Given the description of an element on the screen output the (x, y) to click on. 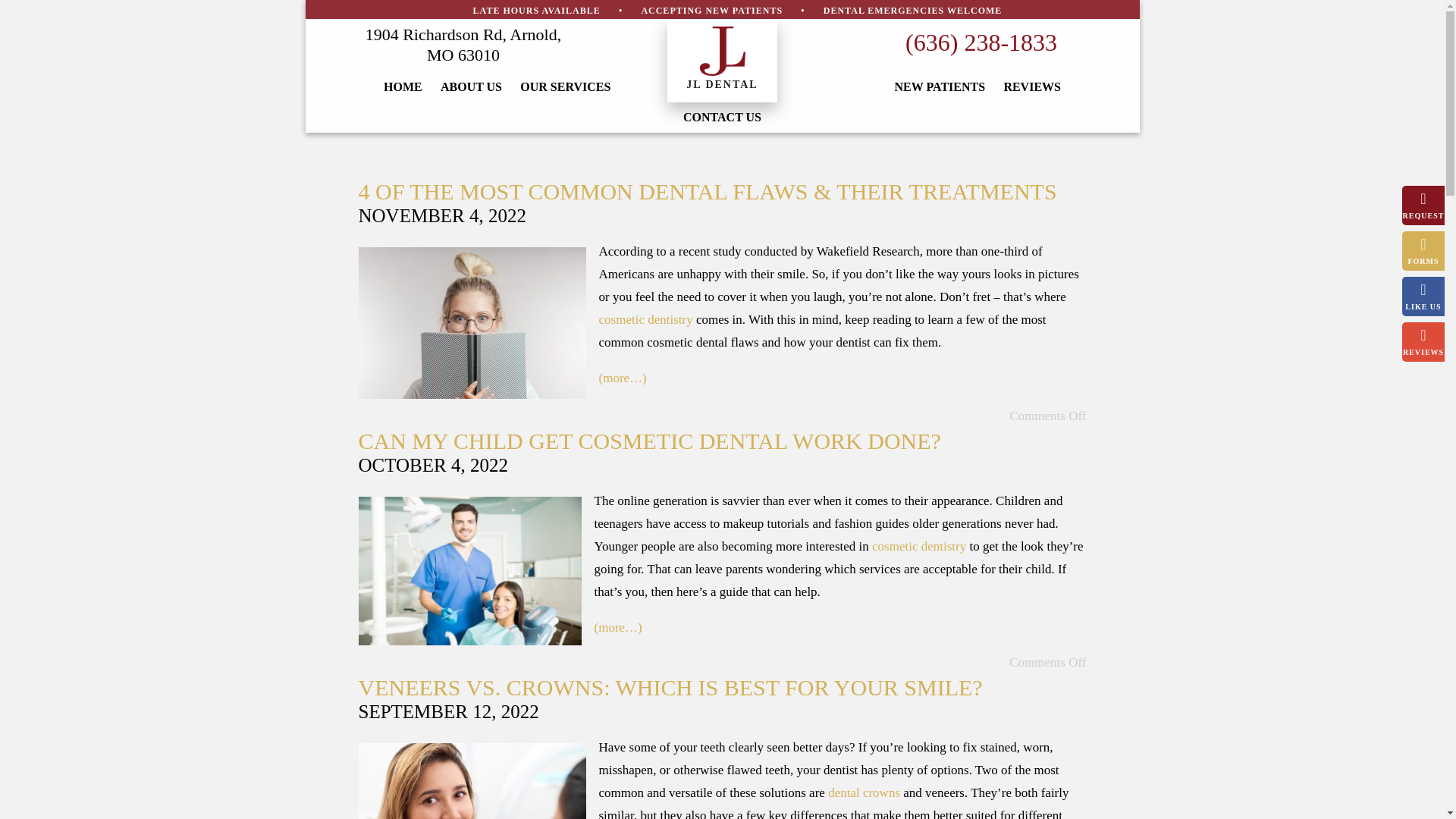
JL DENTAL (721, 60)
LATE HOURS AVAILABLE (536, 9)
OUR SERVICES (564, 87)
HOME (402, 87)
DENTAL EMERGENCIES WELCOME (913, 9)
ABOUT US (470, 87)
1904 Richardson Rd, Arnold, MO 63010 (462, 45)
ACCEPTING NEW PATIENTS (711, 9)
